Given the description of an element on the screen output the (x, y) to click on. 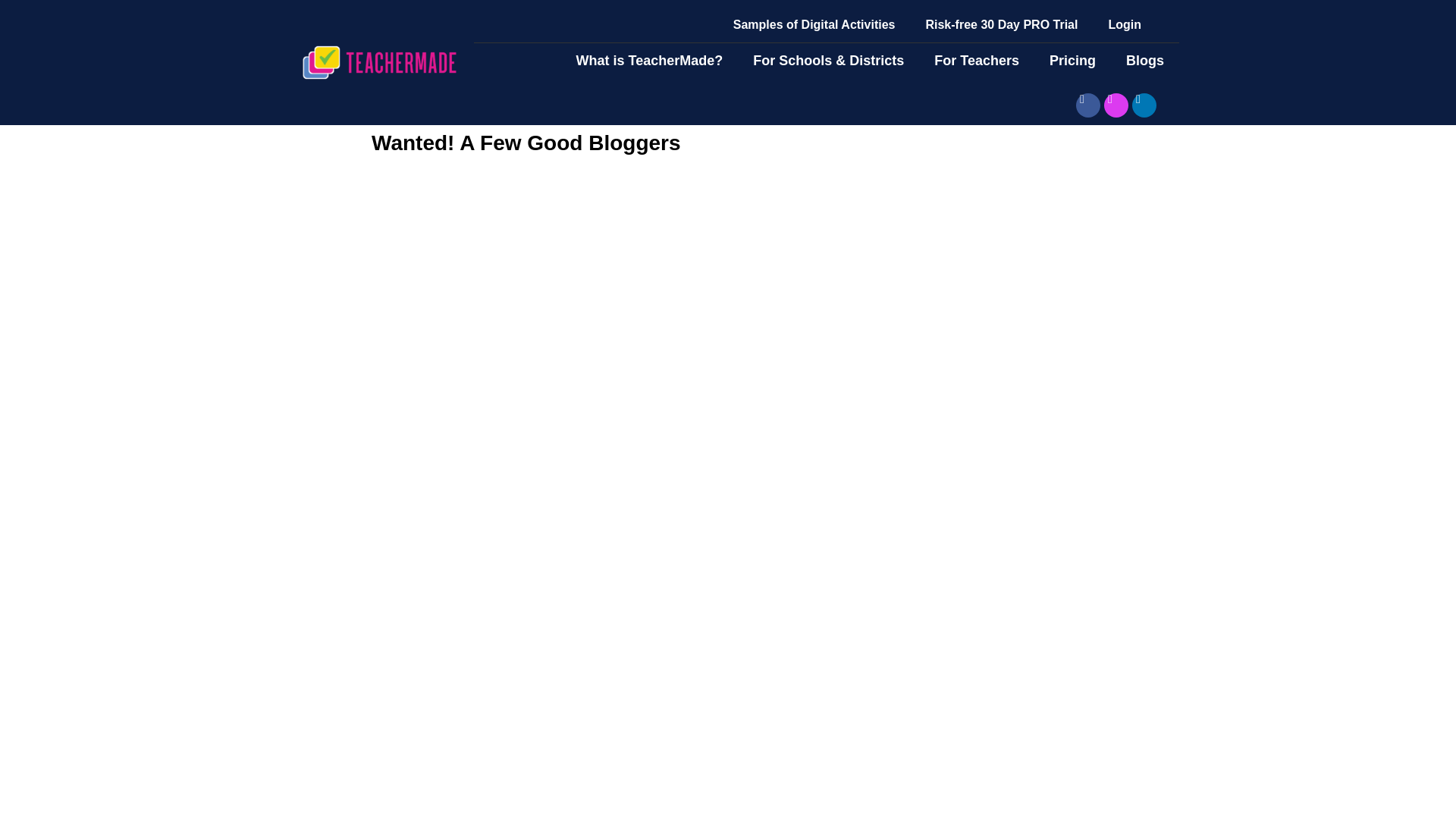
Samples of Digital Activities (814, 24)
For Teachers (975, 60)
Blogs (1144, 60)
Login (1124, 24)
Risk-free 30 Day PRO Trial (1001, 24)
What is TeacherMade? (649, 60)
Pricing (1071, 60)
